Given the description of an element on the screen output the (x, y) to click on. 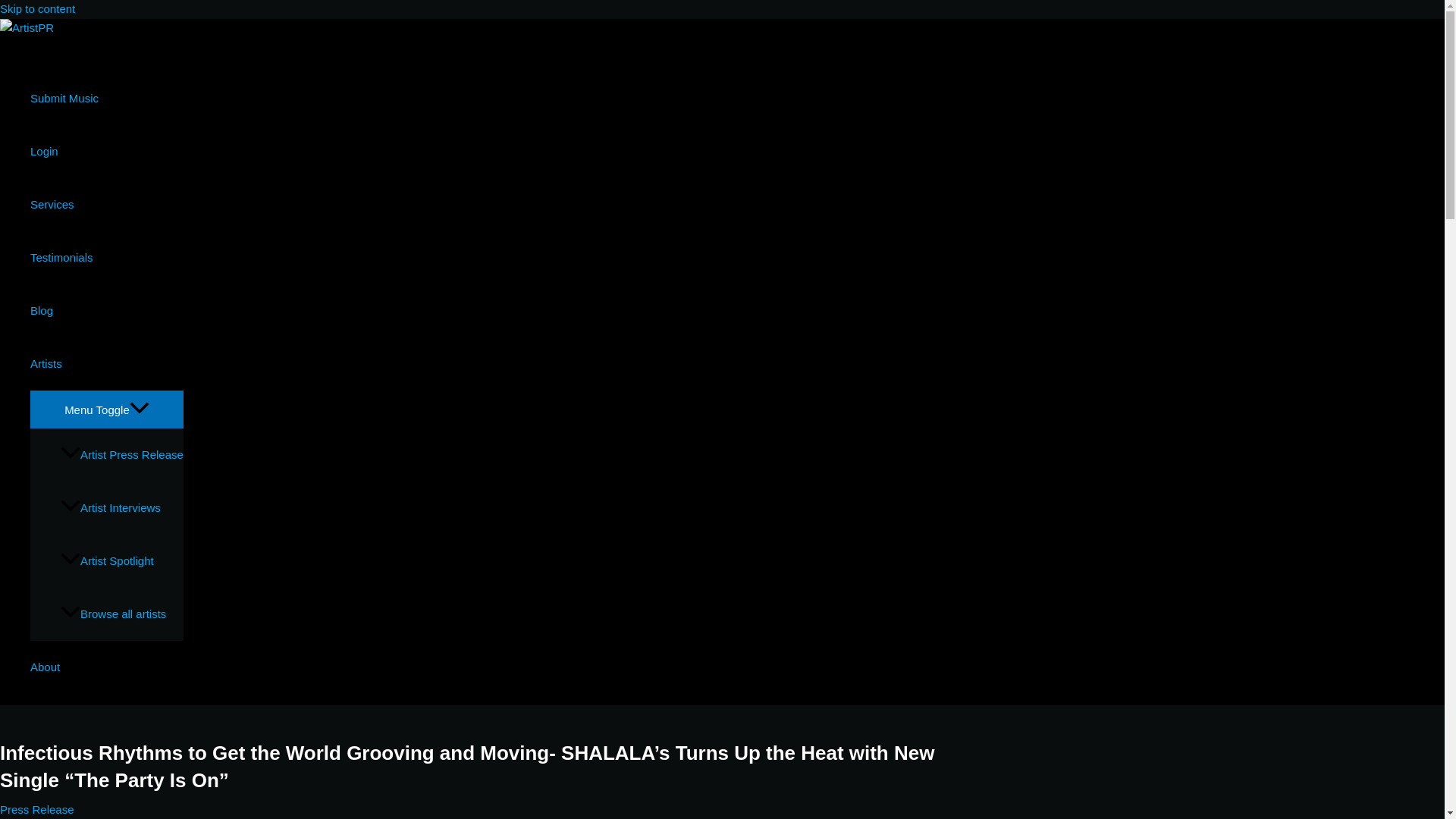
Menu Toggle (106, 407)
Skip to content (37, 8)
Artist Press Release (122, 454)
Submit Music (106, 97)
Press Release (37, 809)
About (106, 666)
Artists (106, 362)
Artist Spotlight (122, 561)
Browse all artists (122, 614)
Testimonials (106, 256)
Skip to content (37, 8)
Blog (106, 309)
Services (106, 203)
Login (106, 150)
Artist Interviews (122, 507)
